Given the description of an element on the screen output the (x, y) to click on. 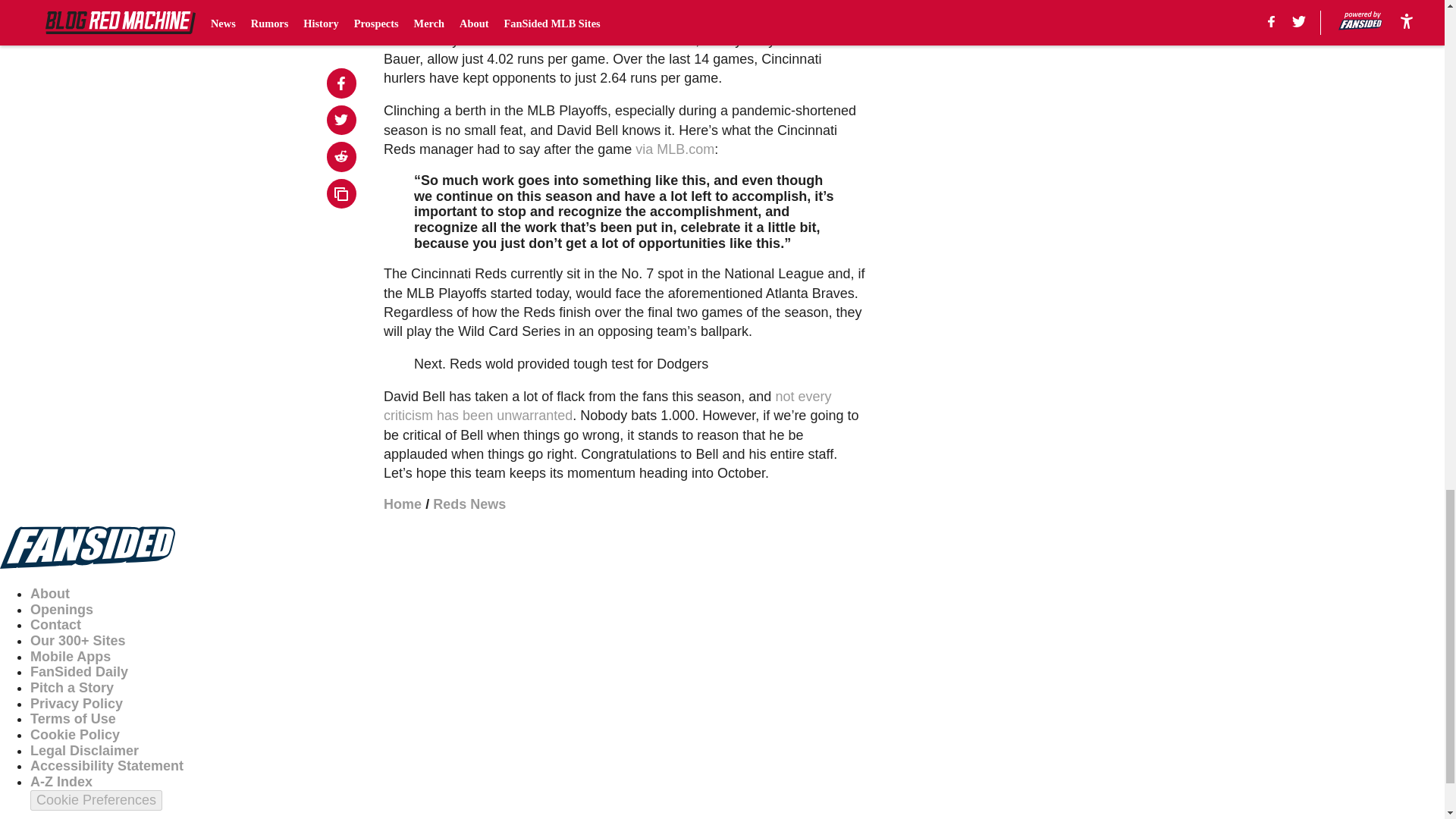
Home (403, 503)
not every criticism has been unwarranted (607, 406)
About (49, 593)
Mobile Apps (70, 656)
Openings (61, 609)
FanSided Daily (79, 671)
via MLB.com (674, 149)
Contact (55, 624)
Reds News (468, 503)
